Given the description of an element on the screen output the (x, y) to click on. 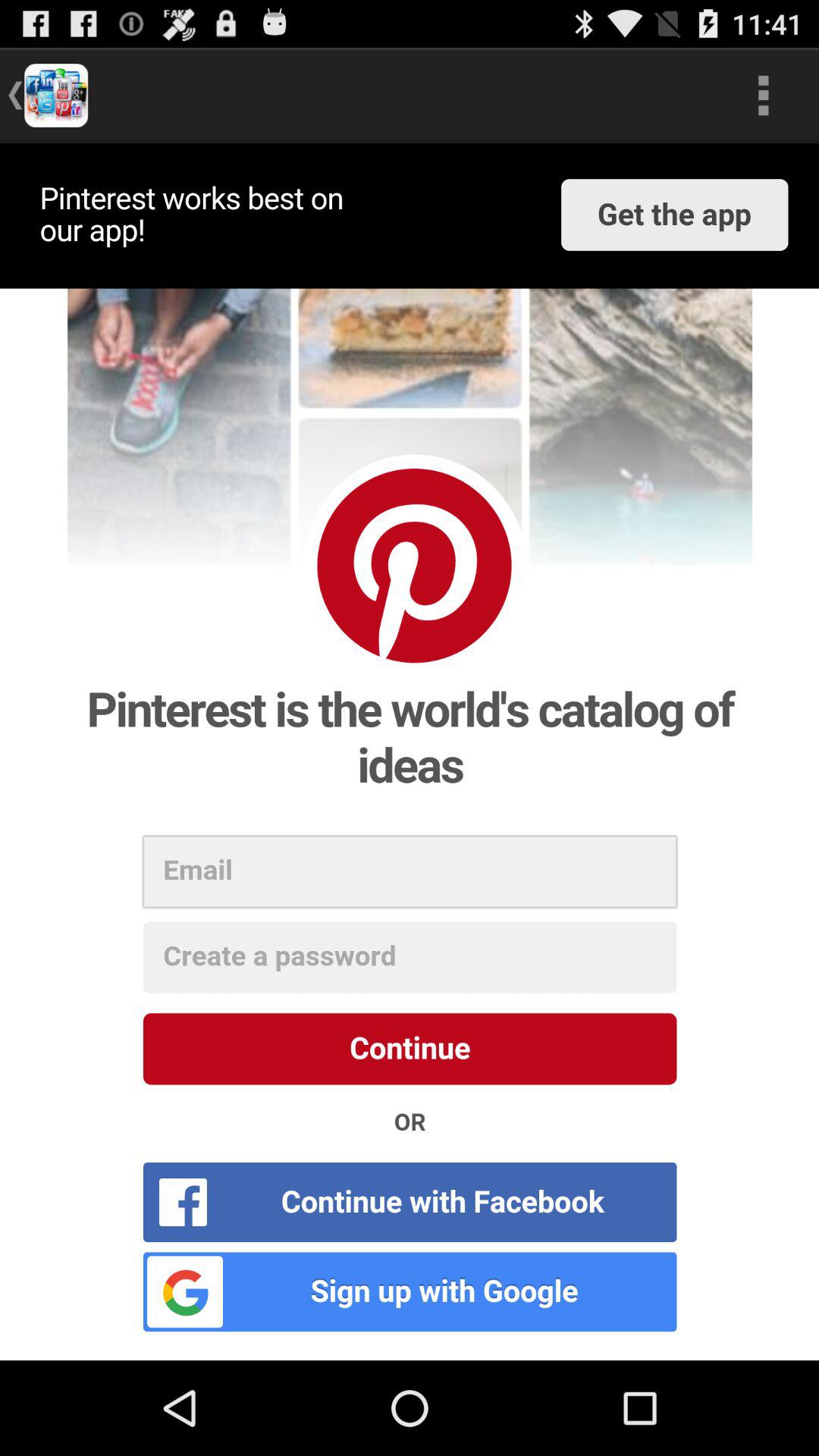
use pinterest (409, 751)
